Given the description of an element on the screen output the (x, y) to click on. 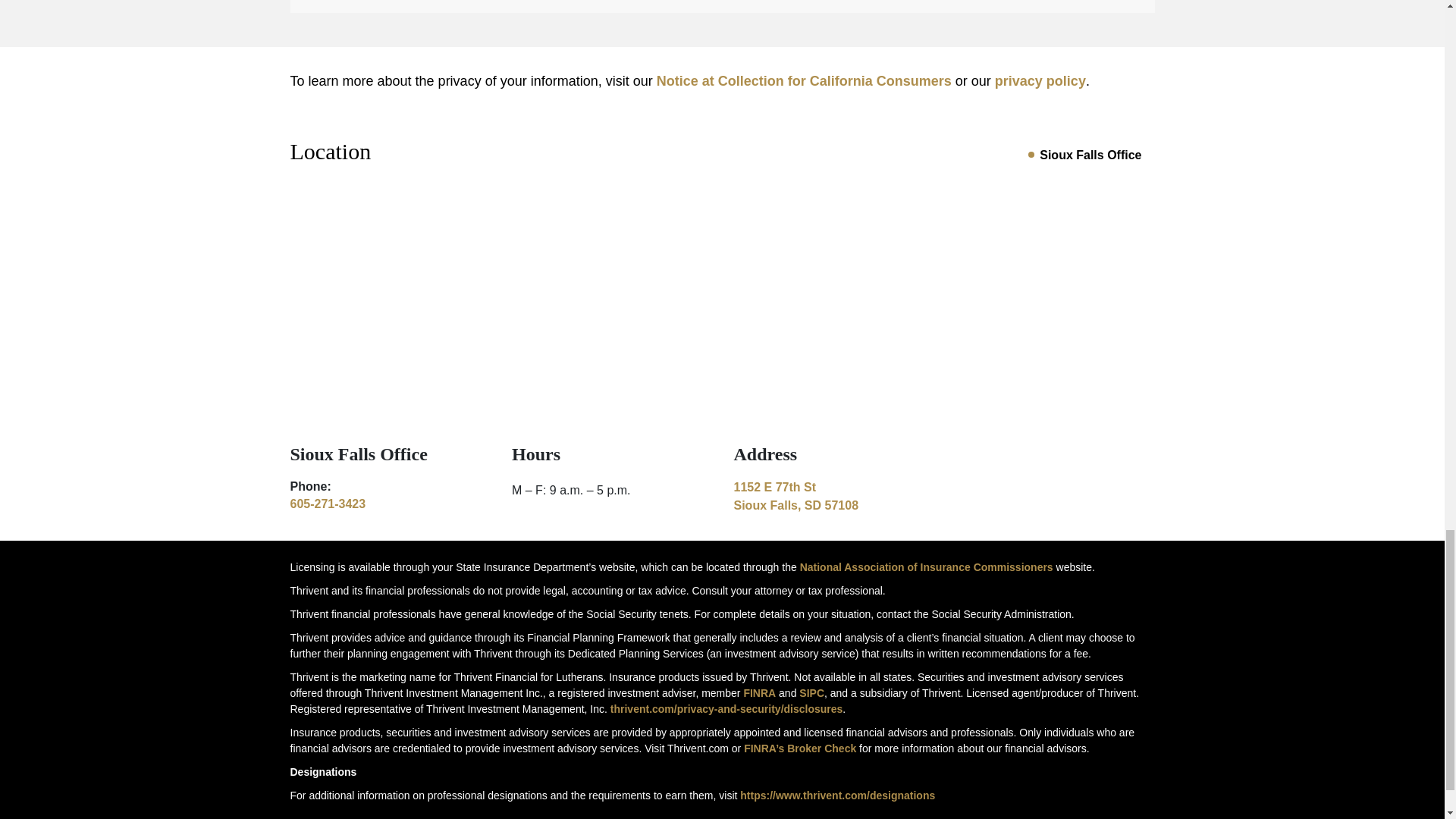
FINRA (833, 496)
Sioux Falls Office (759, 693)
605-271-3423 (1090, 154)
Notice at Collection for California Consumers (327, 503)
privacy policy (804, 80)
National Association of Insurance Commissioners (1040, 80)
SIPC (925, 567)
